Given the description of an element on the screen output the (x, y) to click on. 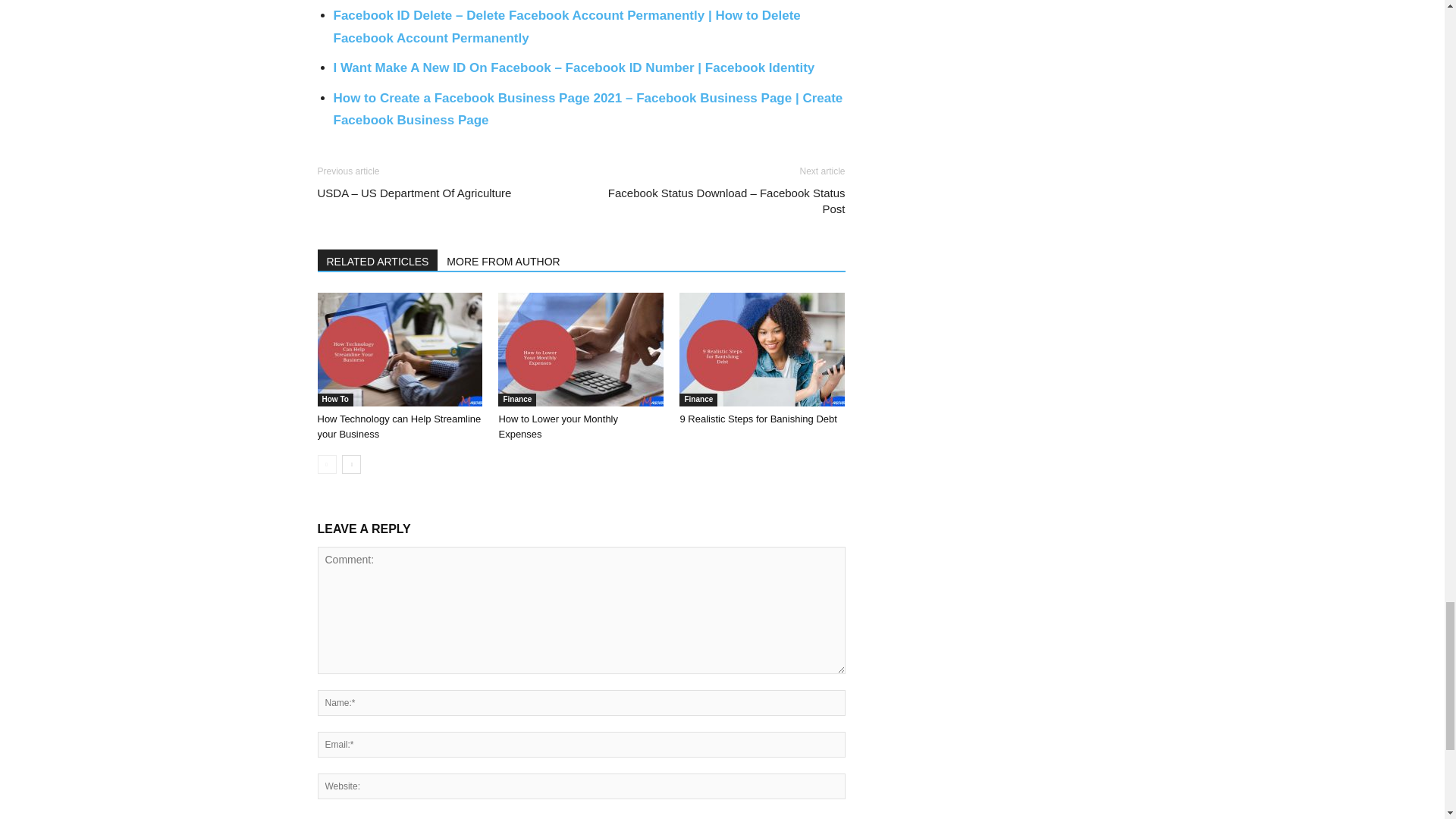
How Technology can Help Streamline your Business (399, 349)
